Given the description of an element on the screen output the (x, y) to click on. 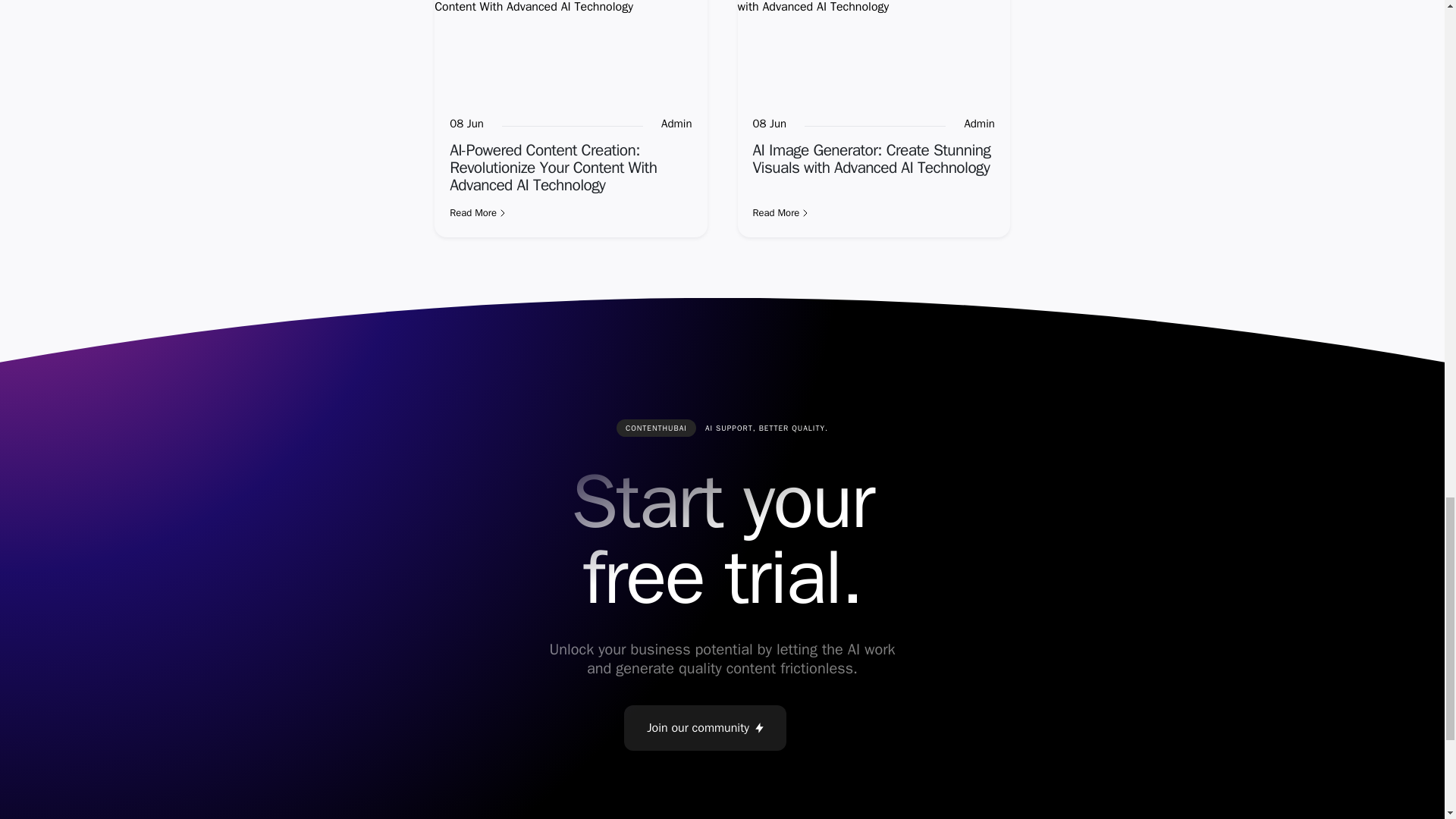
Read More (873, 212)
Admin (978, 124)
Admin (676, 124)
Read More (570, 212)
Join our community (705, 728)
